Given the description of an element on the screen output the (x, y) to click on. 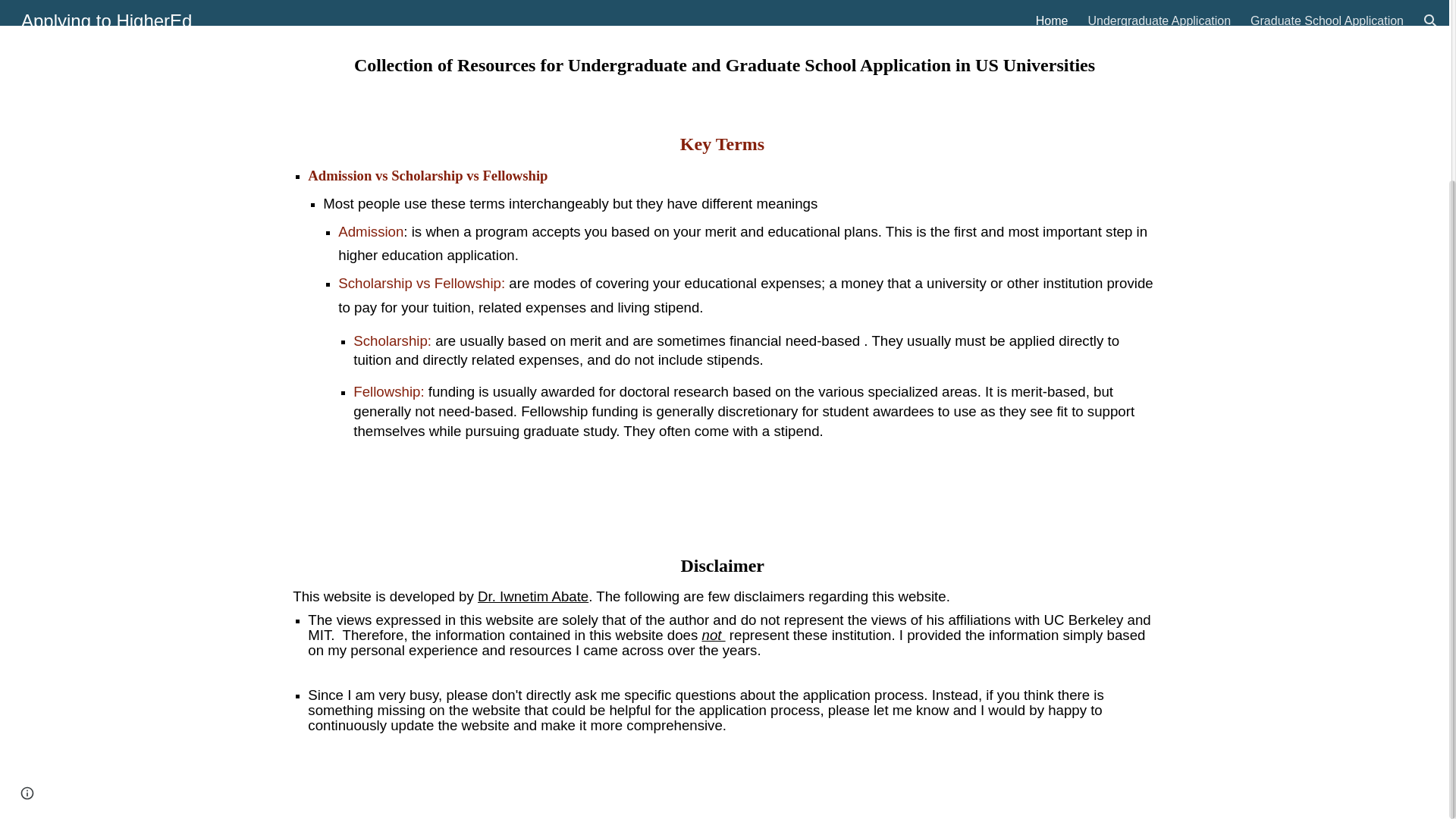
Dr. Iwnetim Abate (532, 596)
